Given the description of an element on the screen output the (x, y) to click on. 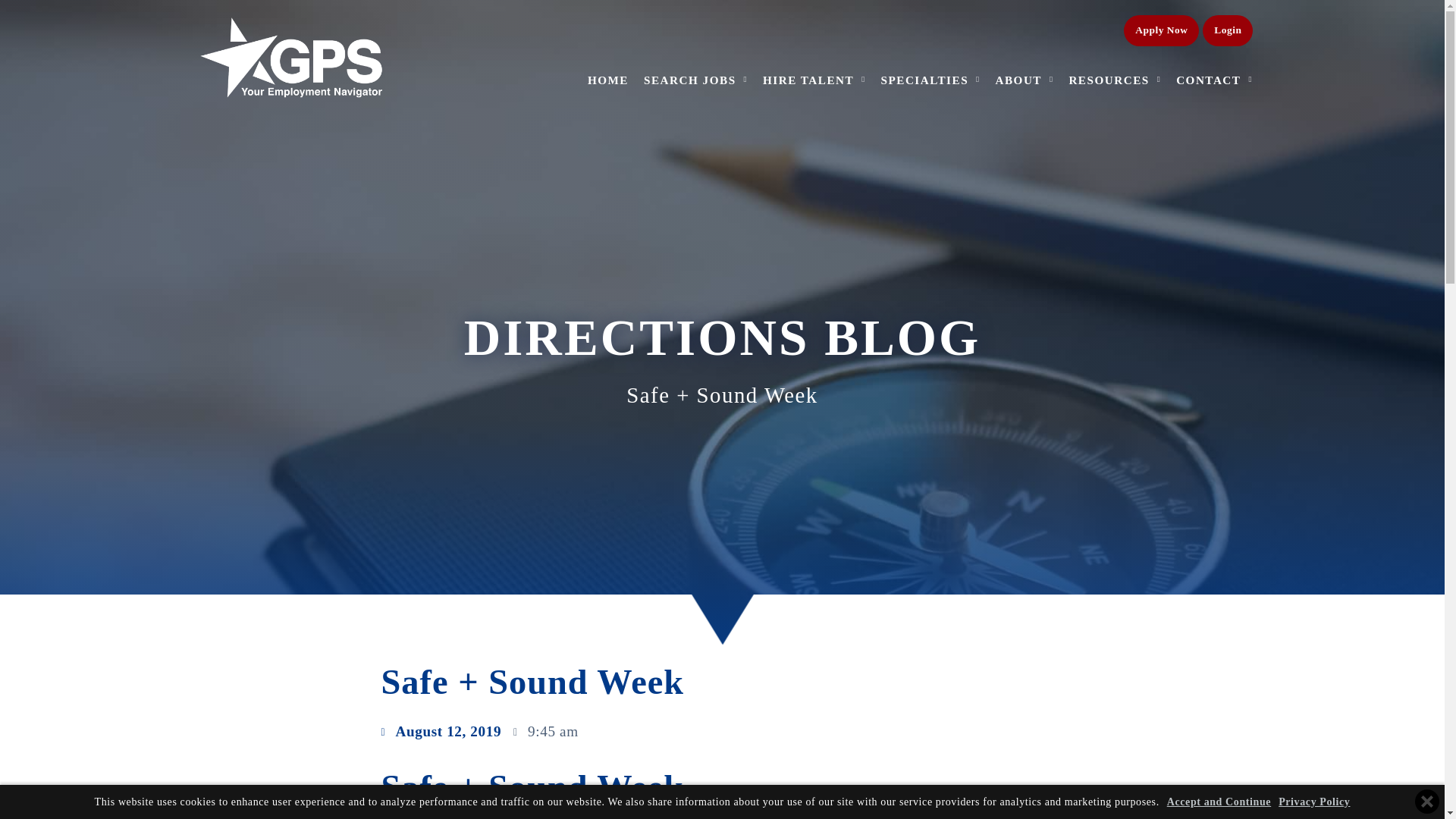
RESOURCES (1114, 59)
SPECIALTIES (929, 36)
HIRE TALENT (814, 22)
ABOUT (1023, 51)
SEARCH JOBS (695, 12)
HOME (608, 11)
CONTACT (1214, 71)
Accept and Continue (1219, 801)
Privacy Policy (1313, 801)
